Given the description of an element on the screen output the (x, y) to click on. 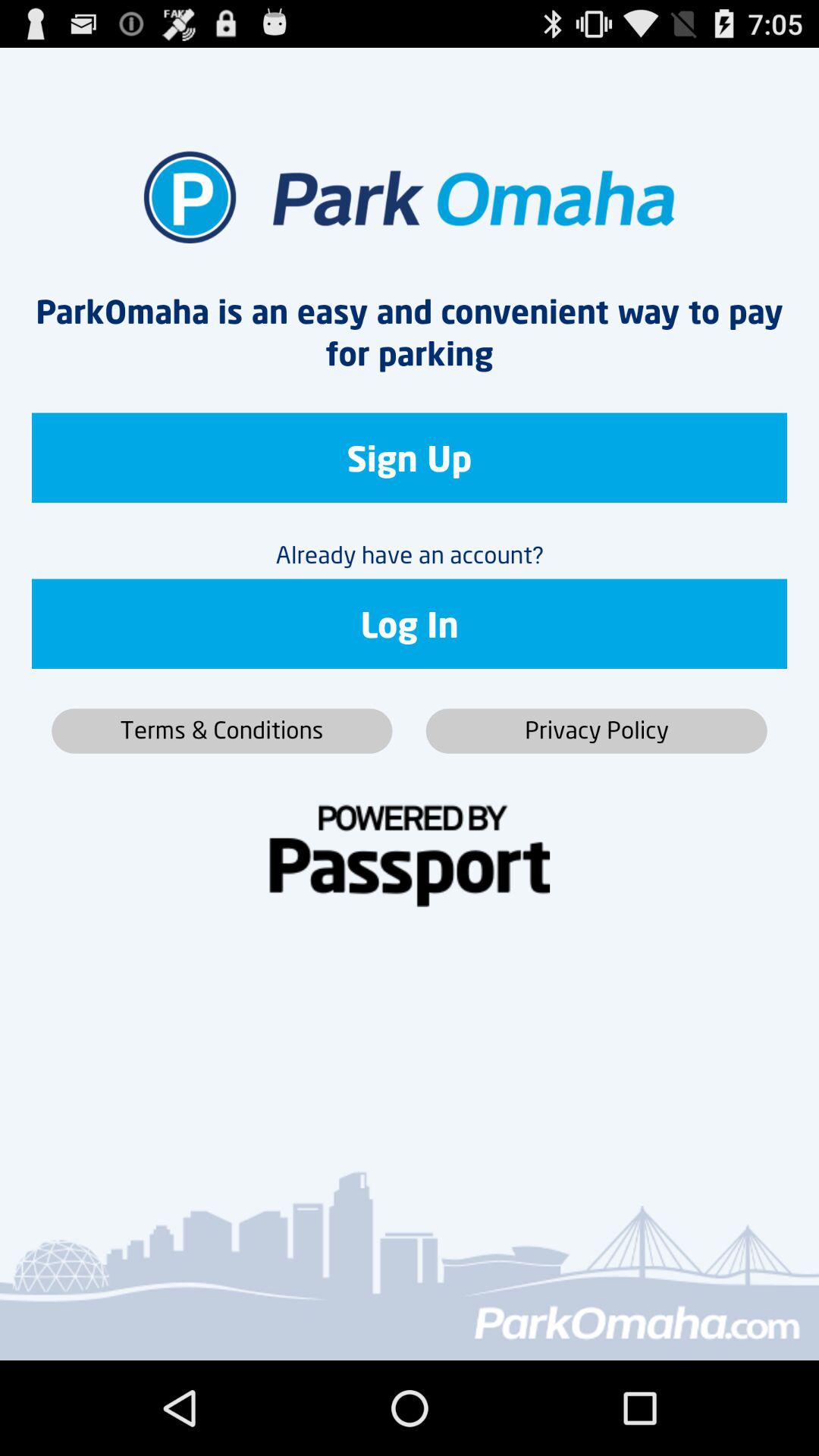
scroll until sign up button (409, 457)
